Given the description of an element on the screen output the (x, y) to click on. 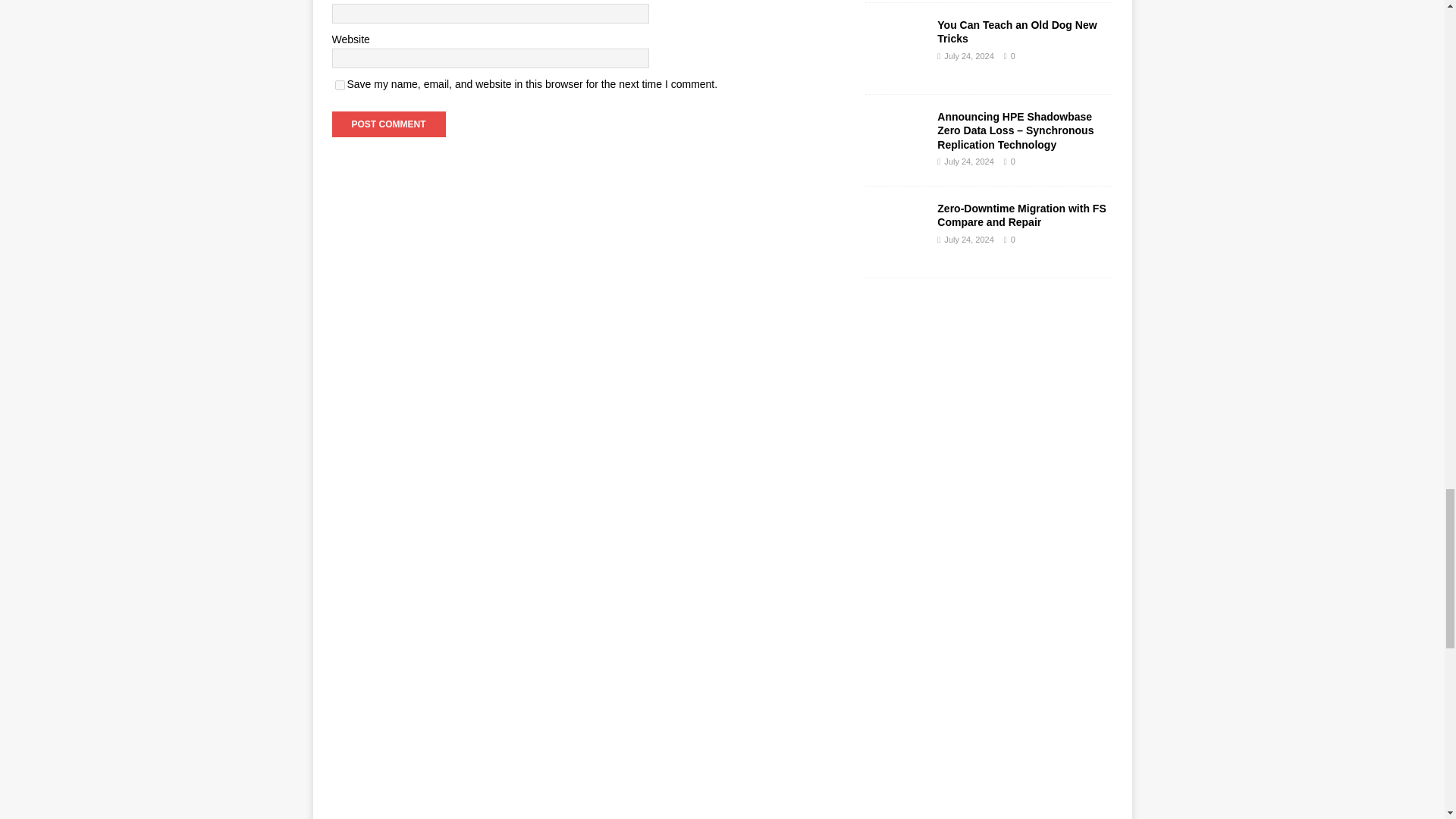
Post Comment (388, 124)
yes (339, 85)
